Given the description of an element on the screen output the (x, y) to click on. 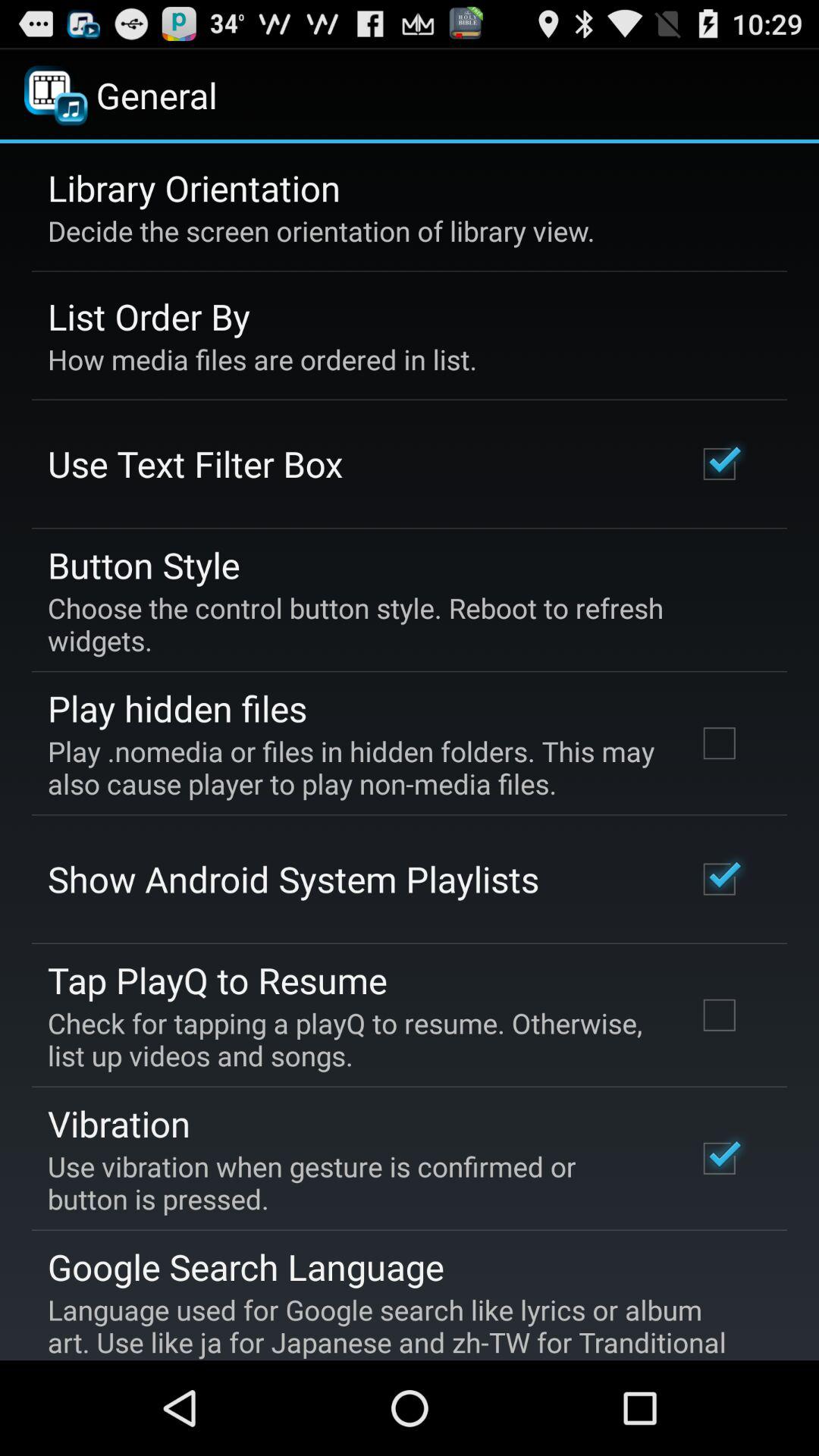
tap icon below tap playq to app (351, 1039)
